Given the description of an element on the screen output the (x, y) to click on. 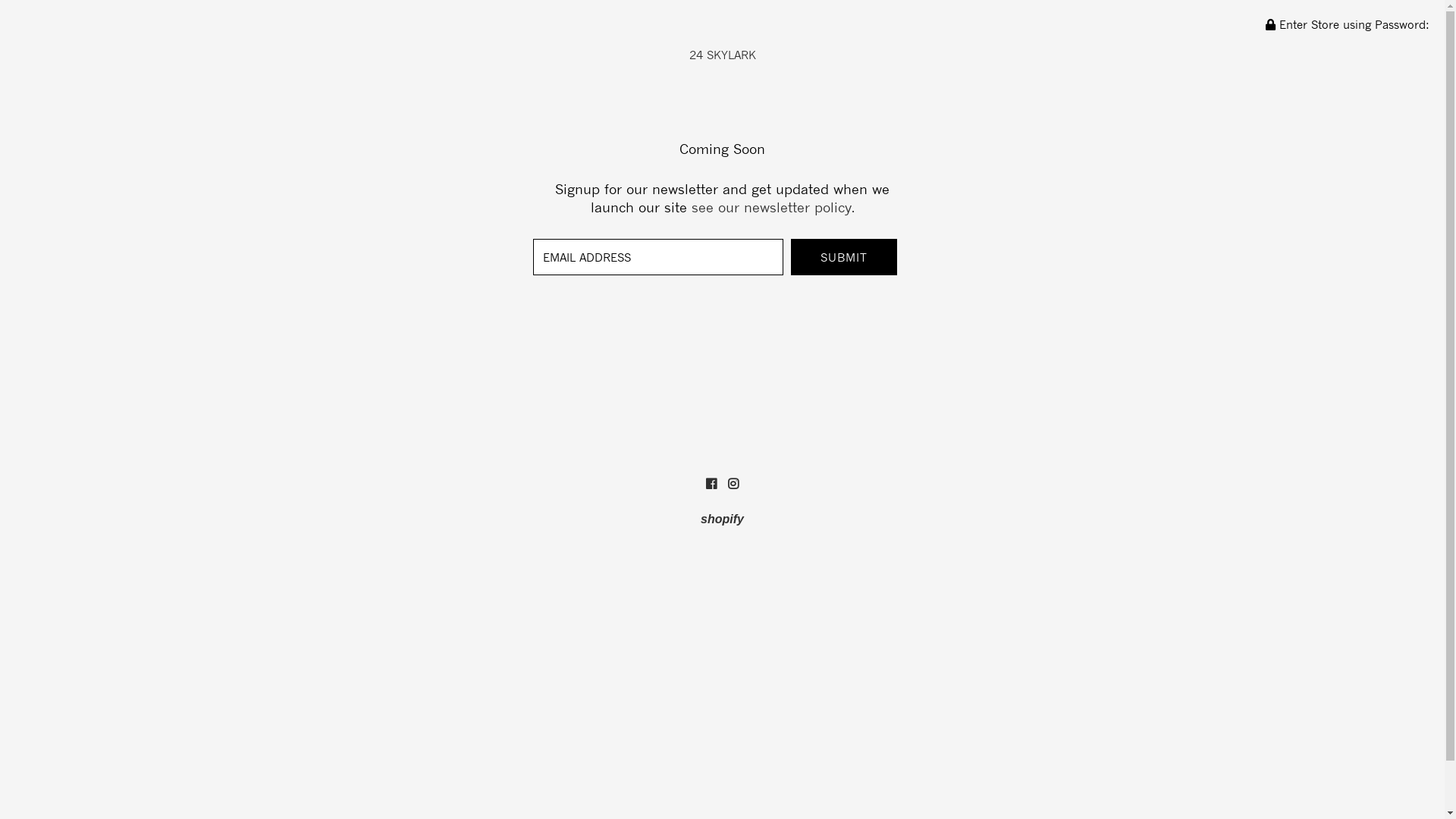
Submit Element type: text (843, 256)
24 SKYLARK Element type: text (721, 54)
see our newsletter policy. Element type: text (772, 206)
shopify Element type: text (721, 518)
